Given the description of an element on the screen output the (x, y) to click on. 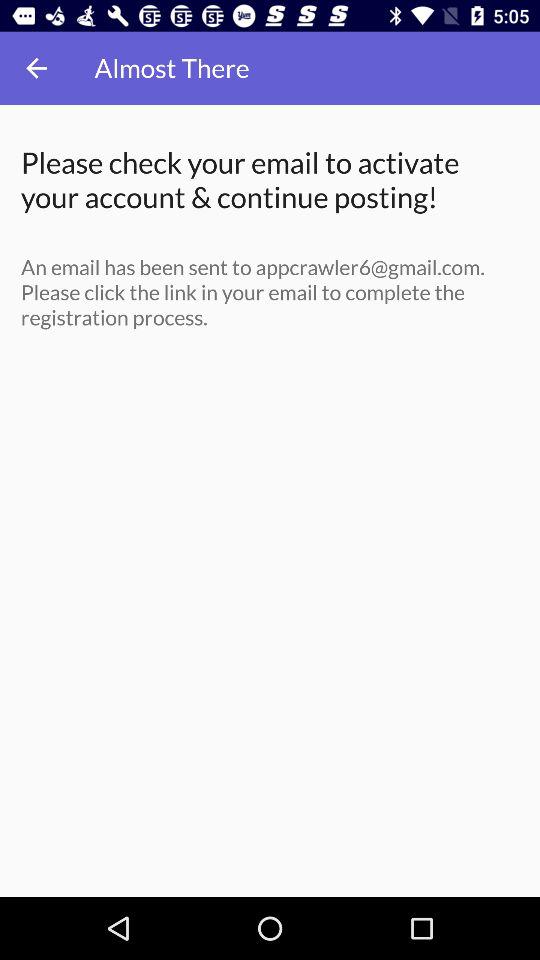
select item above the please check your icon (36, 68)
